Given the description of an element on the screen output the (x, y) to click on. 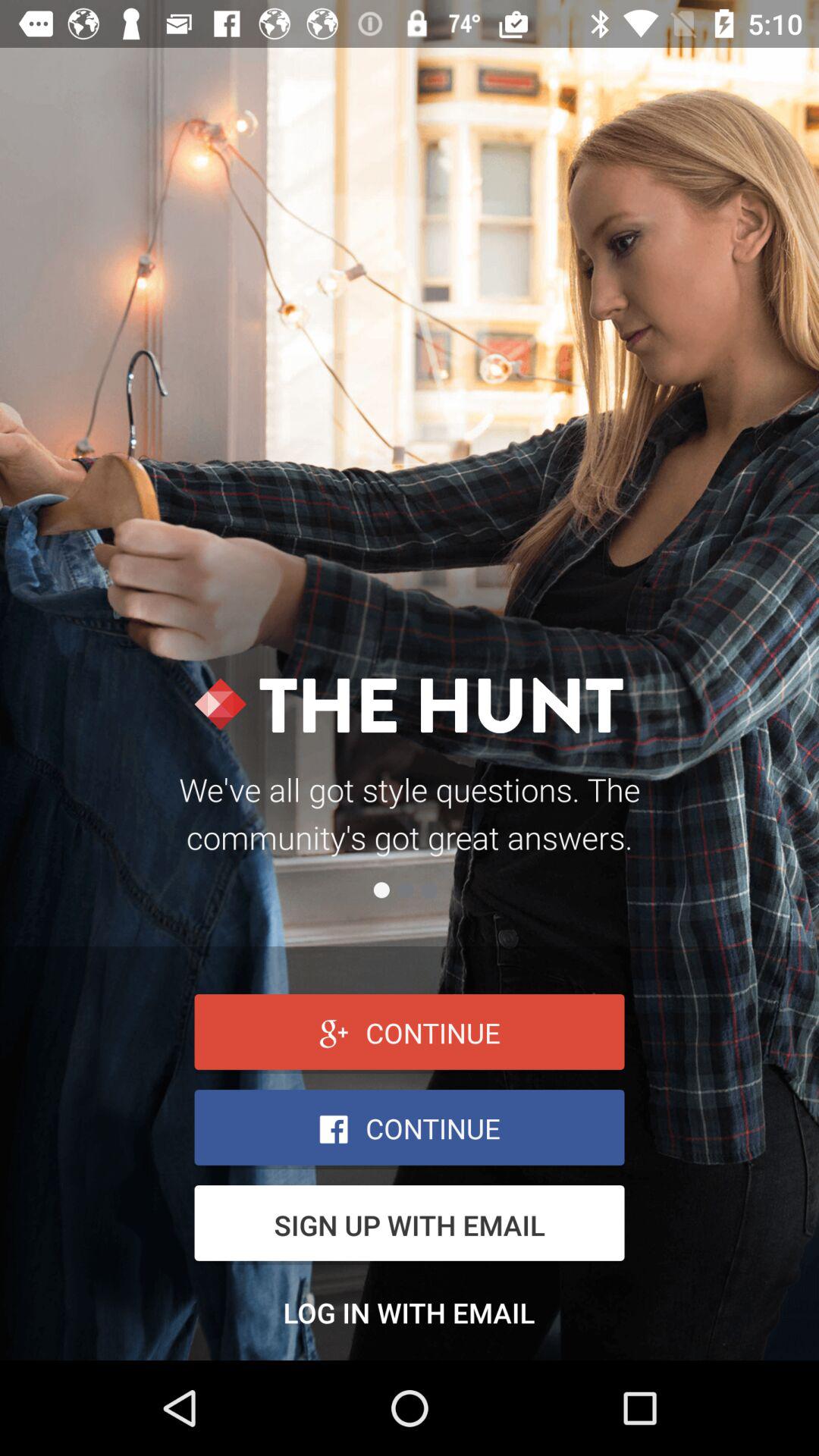
the button is used to continue bar (409, 1129)
